Given the description of an element on the screen output the (x, y) to click on. 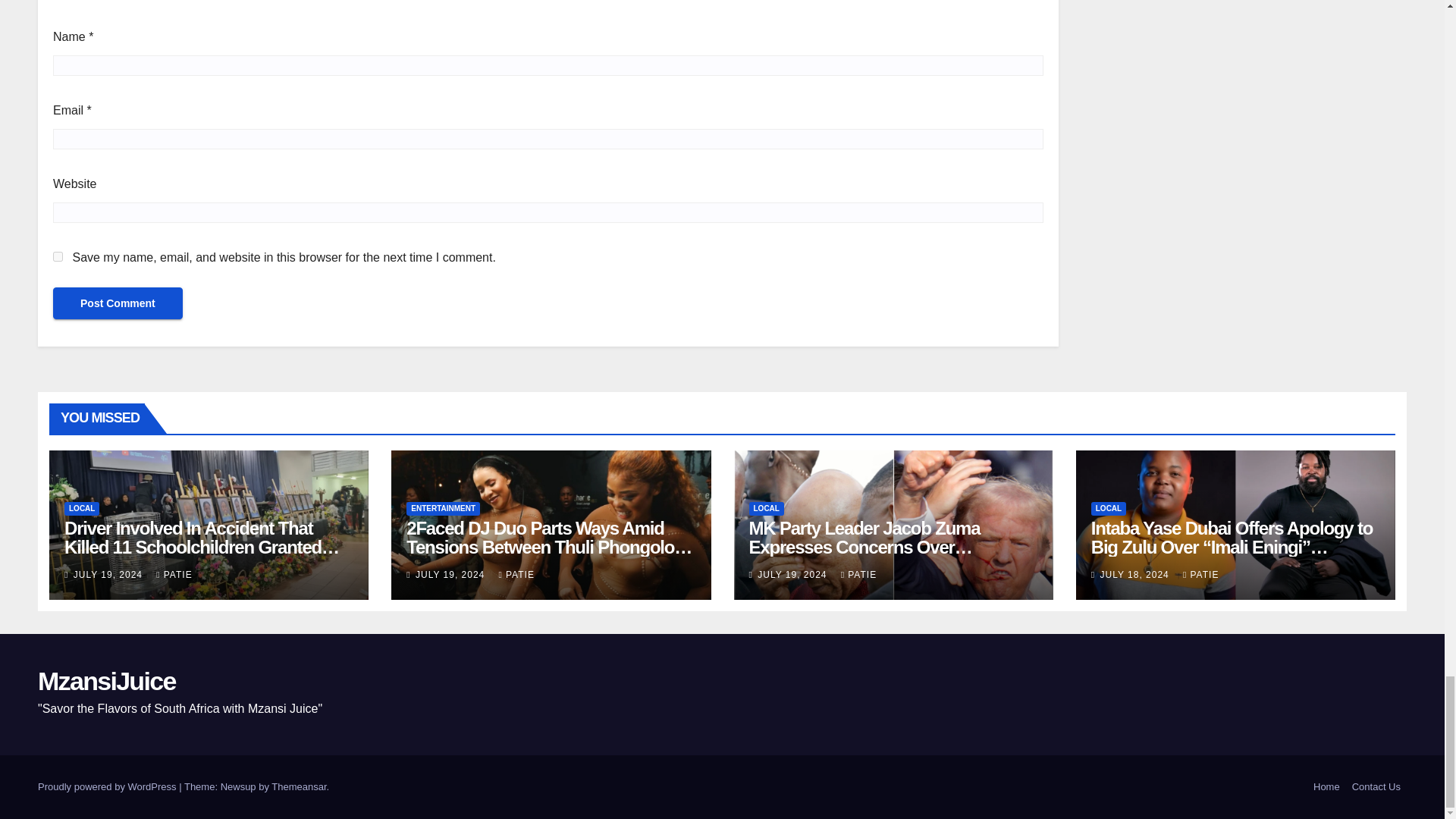
Home (1326, 786)
yes (57, 256)
Post Comment (117, 303)
